Given the description of an element on the screen output the (x, y) to click on. 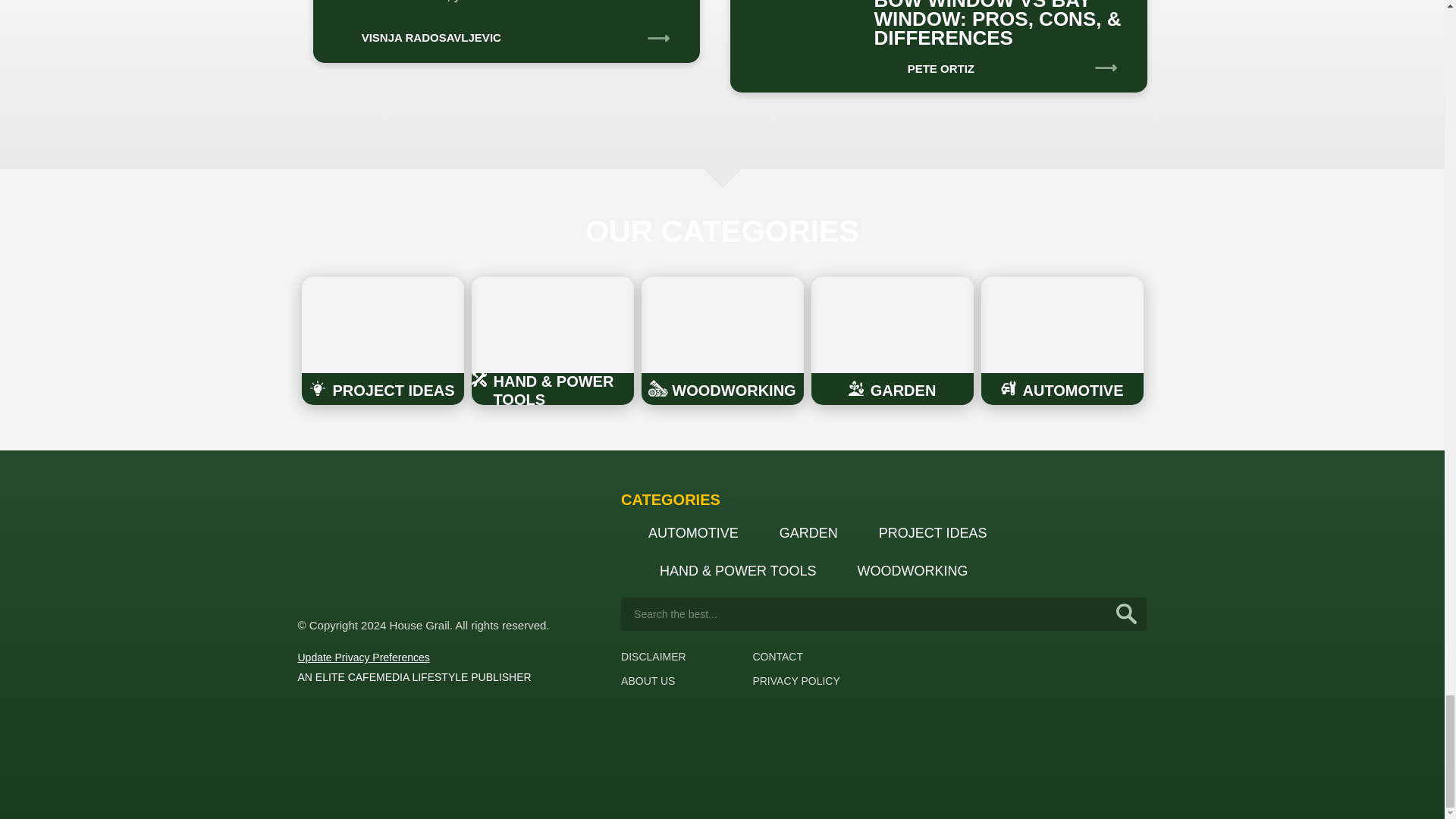
house-grail-logo (353, 544)
Search (1126, 613)
VISNJA RADOSAVLJEVIC (413, 32)
